Given the description of an element on the screen output the (x, y) to click on. 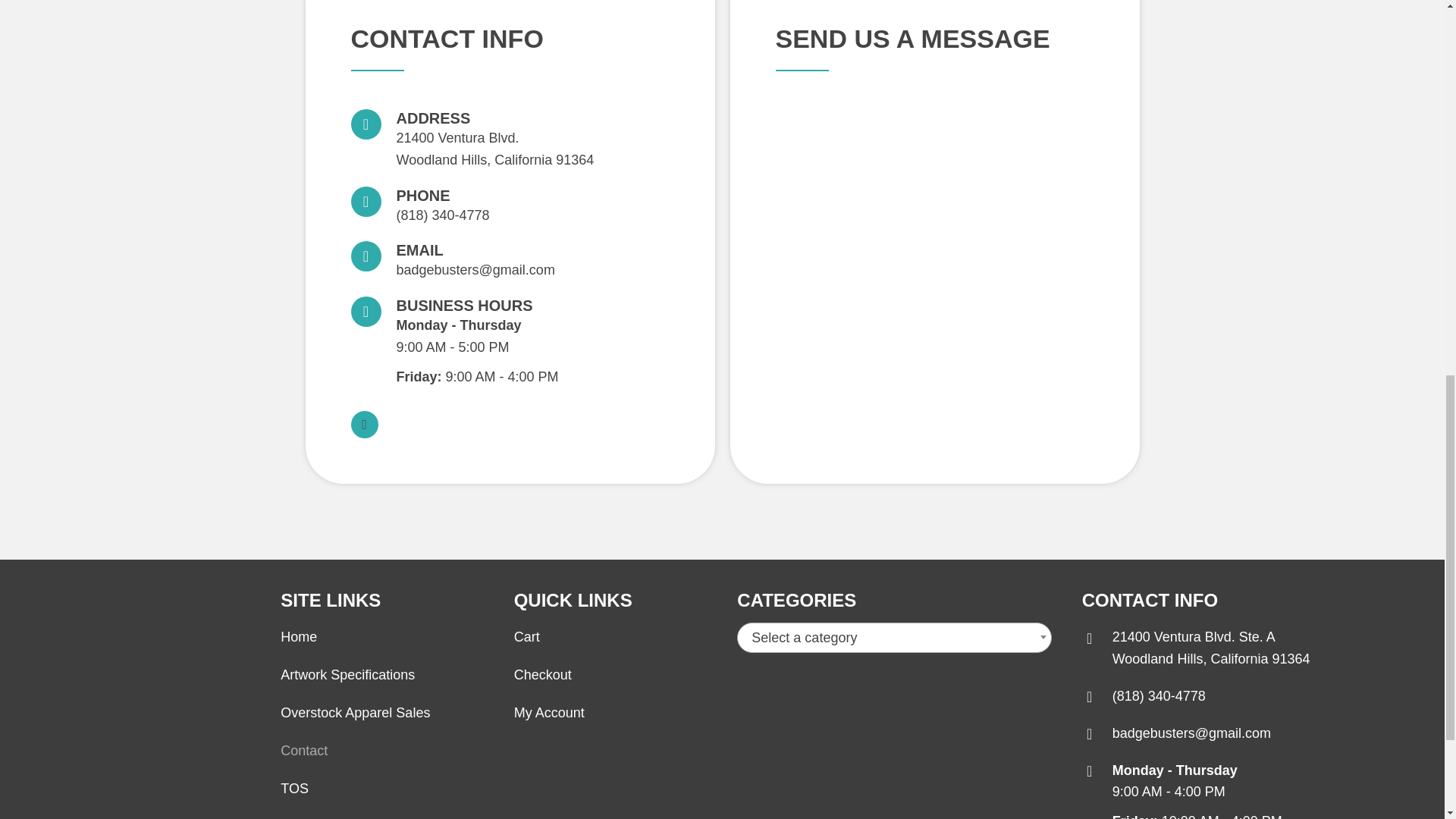
Checkout (542, 674)
TOS (294, 788)
Overstock Apparel Sales (355, 713)
Cart (526, 637)
Home (299, 637)
Contact (495, 148)
Artwork Specifications (1211, 648)
My Account (304, 750)
Facebook (347, 674)
